Given the description of an element on the screen output the (x, y) to click on. 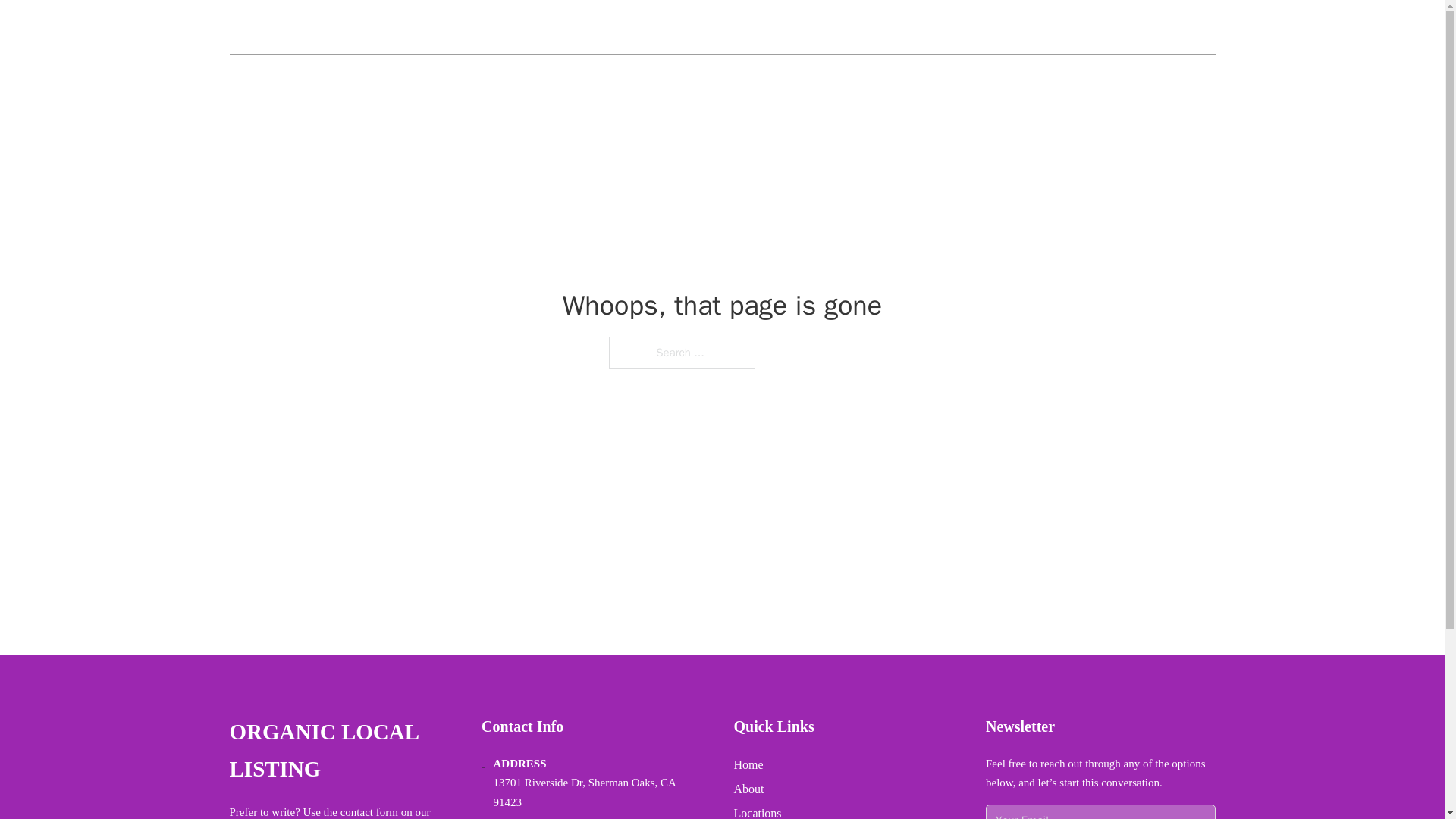
About (748, 788)
ORGANIC LOCAL LISTING (346, 26)
Home (747, 764)
Locations (757, 811)
HOME (1032, 27)
LOCATIONS (1105, 27)
ORGANIC LOCAL LISTING (343, 750)
